Given the description of an element on the screen output the (x, y) to click on. 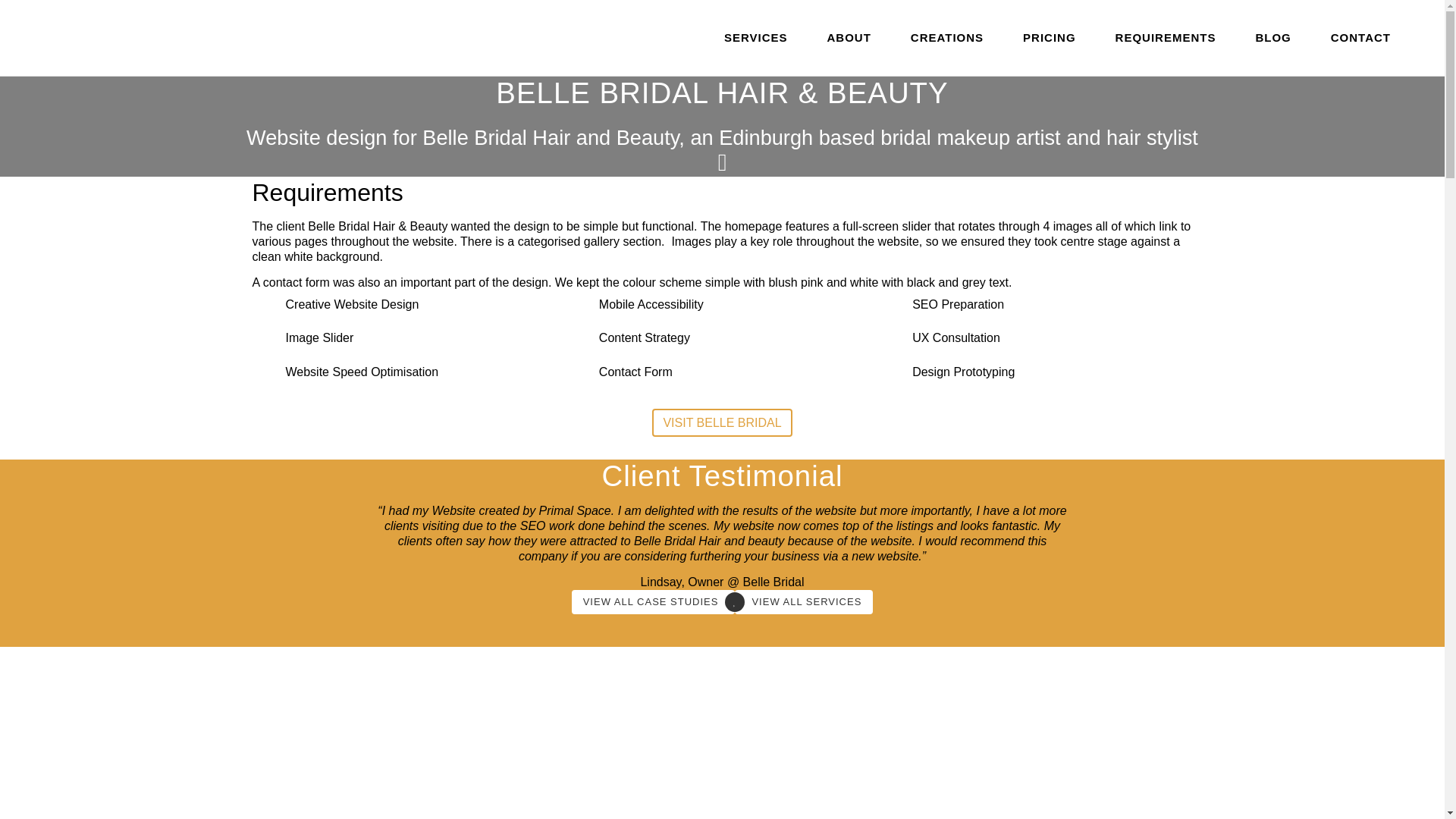
CREATIONS (947, 38)
SERVICES (756, 38)
ABOUT (849, 38)
